Given the description of an element on the screen output the (x, y) to click on. 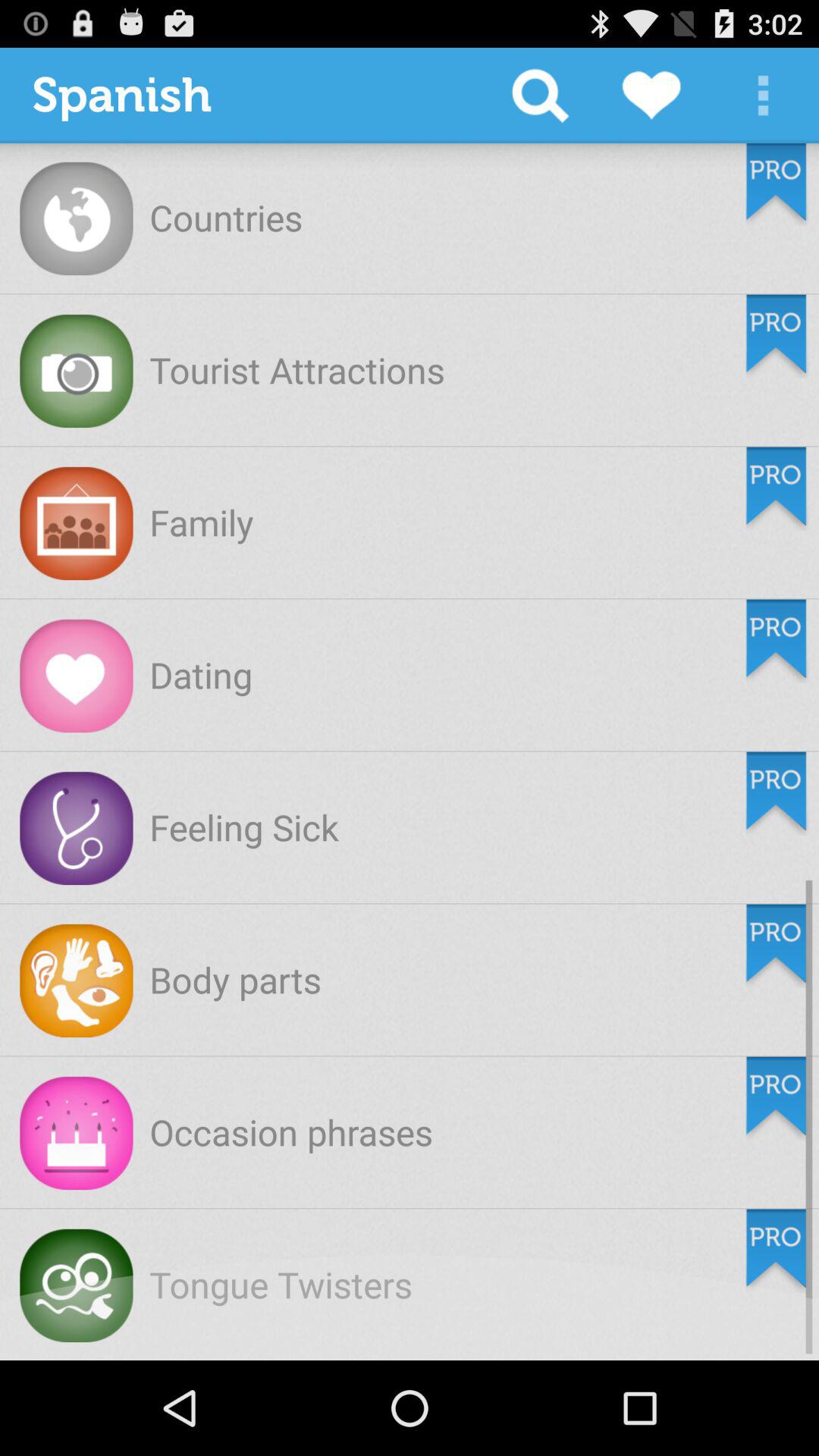
flip until the feeling sick app (243, 827)
